Given the description of an element on the screen output the (x, y) to click on. 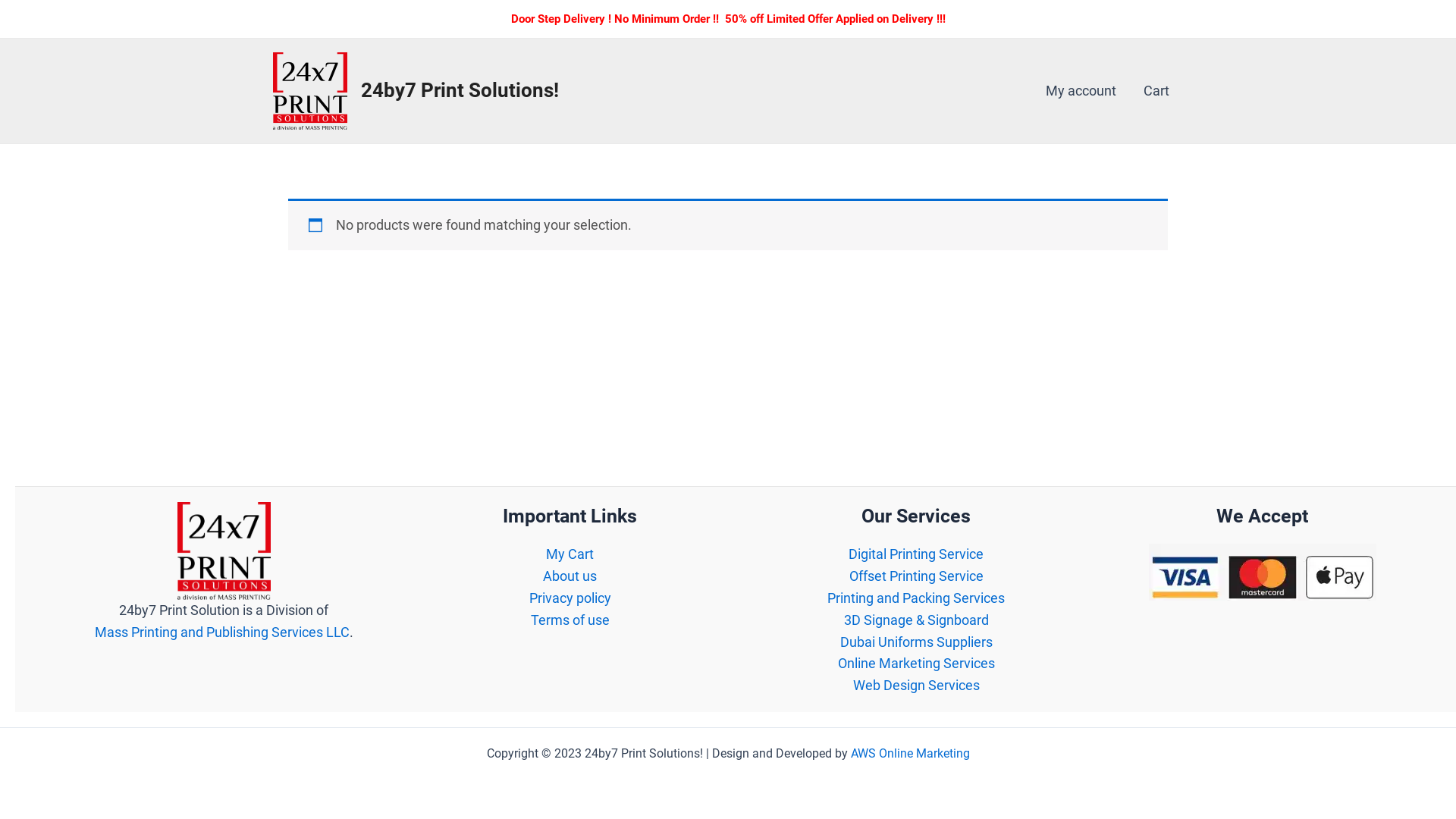
Mass Printing and Publishing Services LLC Element type: text (221, 632)
My Cart Element type: text (569, 553)
My account Element type: text (1080, 90)
Dubai Uniforms Suppliers Element type: text (916, 641)
Offset Printing Service Element type: text (916, 575)
About us Element type: text (569, 575)
Online Marketing Services Element type: text (915, 663)
Digital Printing Service Element type: text (915, 553)
Cart Element type: text (1156, 90)
What We Accept Element type: hover (1262, 571)
24by7 Print Solutions! Element type: text (459, 89)
Printing and Packing Services Element type: text (915, 597)
Privacy policy Element type: text (570, 597)
AWS Online Marketing Element type: text (909, 753)
Terms of use Element type: text (569, 619)
3D Signage & Signboard Element type: text (916, 619)
Web Design Services Element type: text (916, 685)
